Given the description of an element on the screen output the (x, y) to click on. 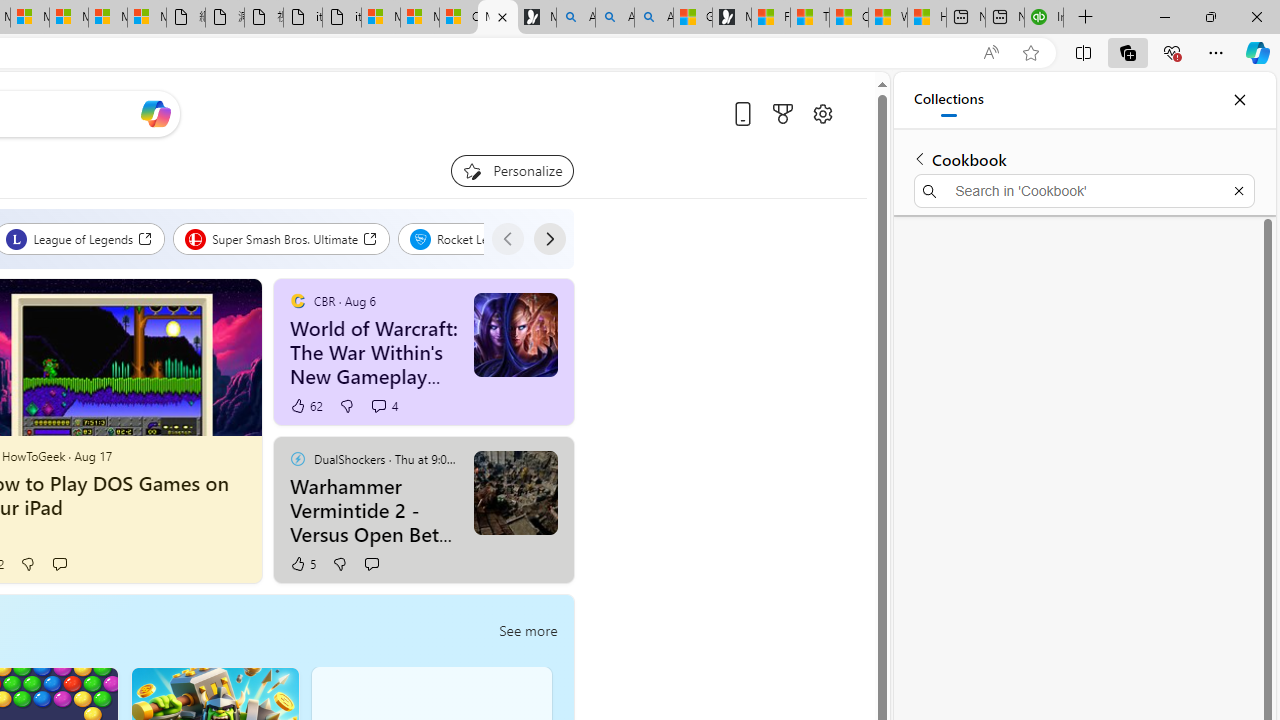
Consumer Health Data Privacy Policy (458, 17)
Alabama high school quarterback dies - Search Videos (653, 17)
CNN - MSN (848, 17)
Previous (507, 238)
Super Smash Bros. Ultimate (282, 238)
